Given the description of an element on the screen output the (x, y) to click on. 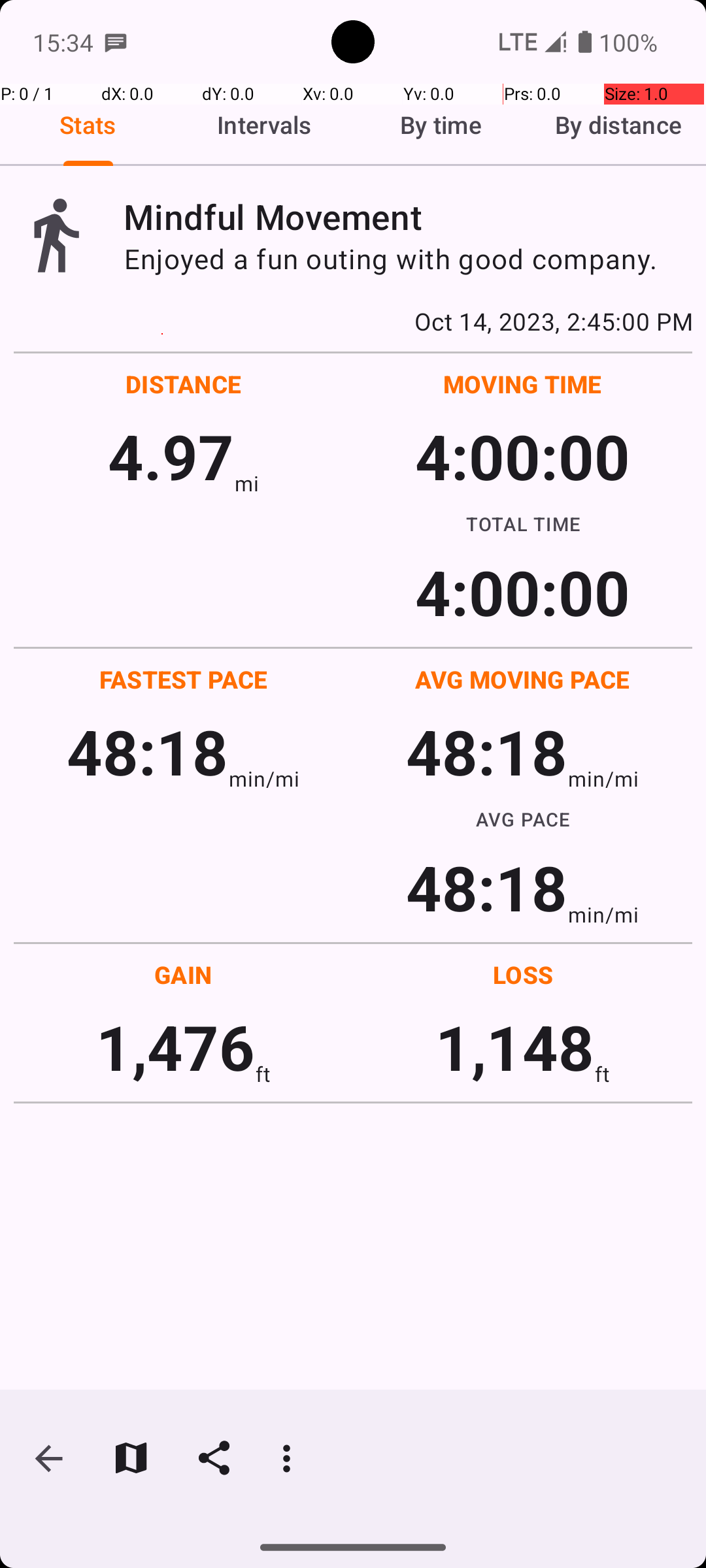
Mindful Movement Element type: android.widget.TextView (407, 216)
Enjoyed a fun outing with good company. Element type: android.widget.TextView (407, 258)
Oct 14, 2023, 2:45:00 PM Element type: android.widget.TextView (352, 320)
4.97 Element type: android.widget.TextView (170, 455)
4:00:00 Element type: android.widget.TextView (522, 455)
48:18 Element type: android.widget.TextView (147, 750)
1,476 Element type: android.widget.TextView (175, 1045)
1,148 Element type: android.widget.TextView (514, 1045)
